Given the description of an element on the screen output the (x, y) to click on. 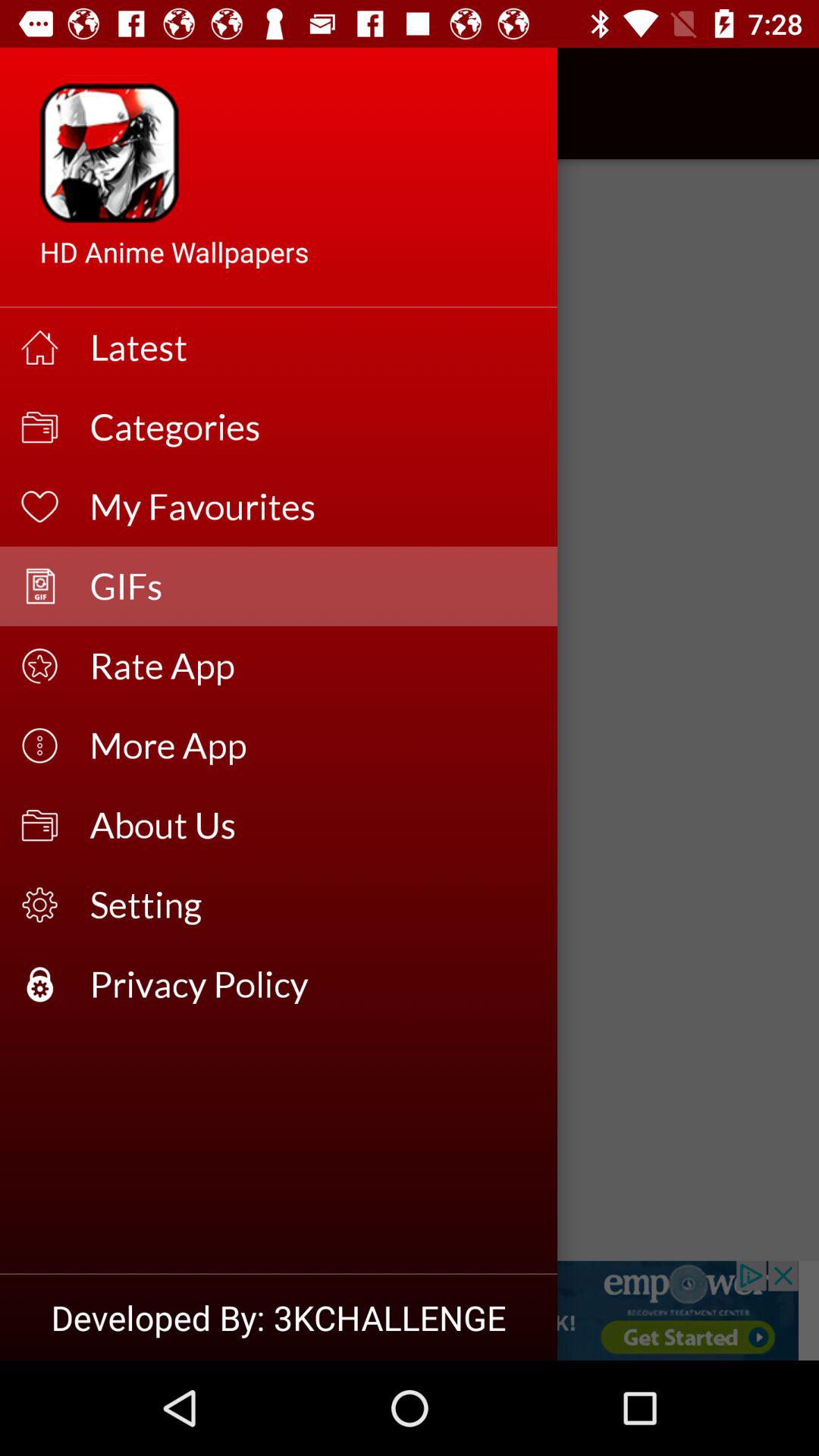
tap the categories item (313, 426)
